Given the description of an element on the screen output the (x, y) to click on. 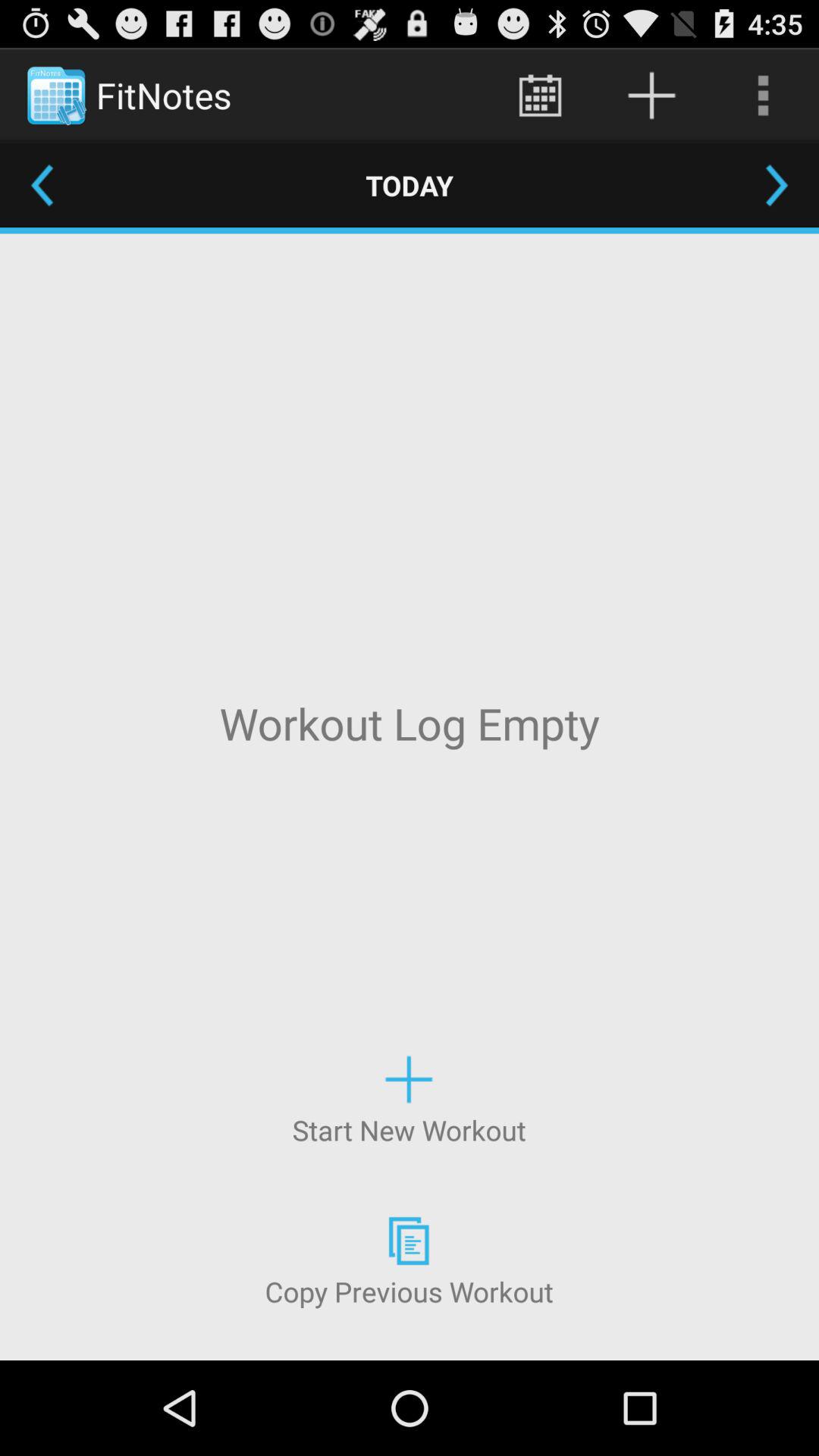
turn on app to the right of fitnotes app (540, 95)
